Given the description of an element on the screen output the (x, y) to click on. 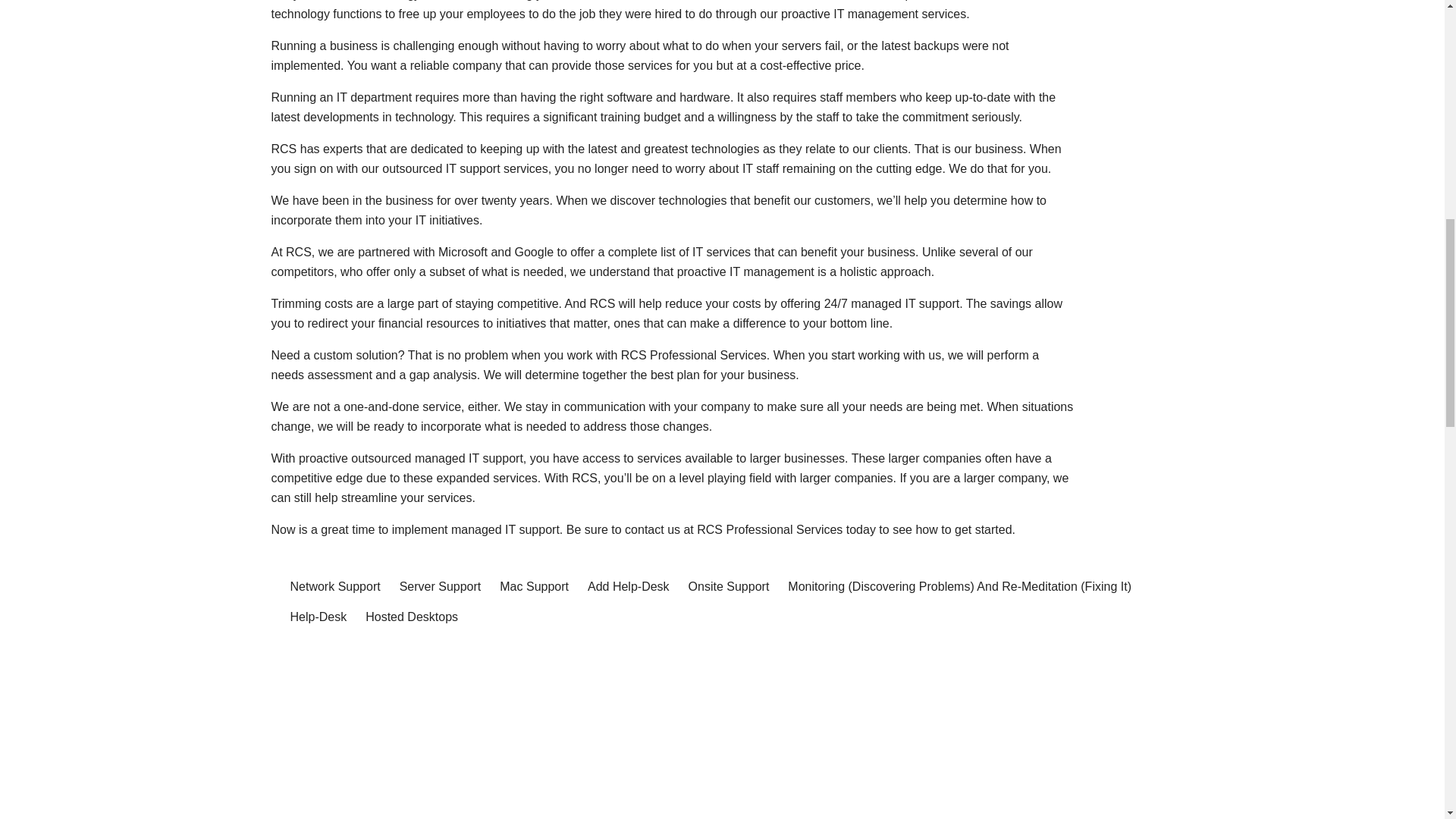
HubSpot Video (722, 766)
